Given the description of an element on the screen output the (x, y) to click on. 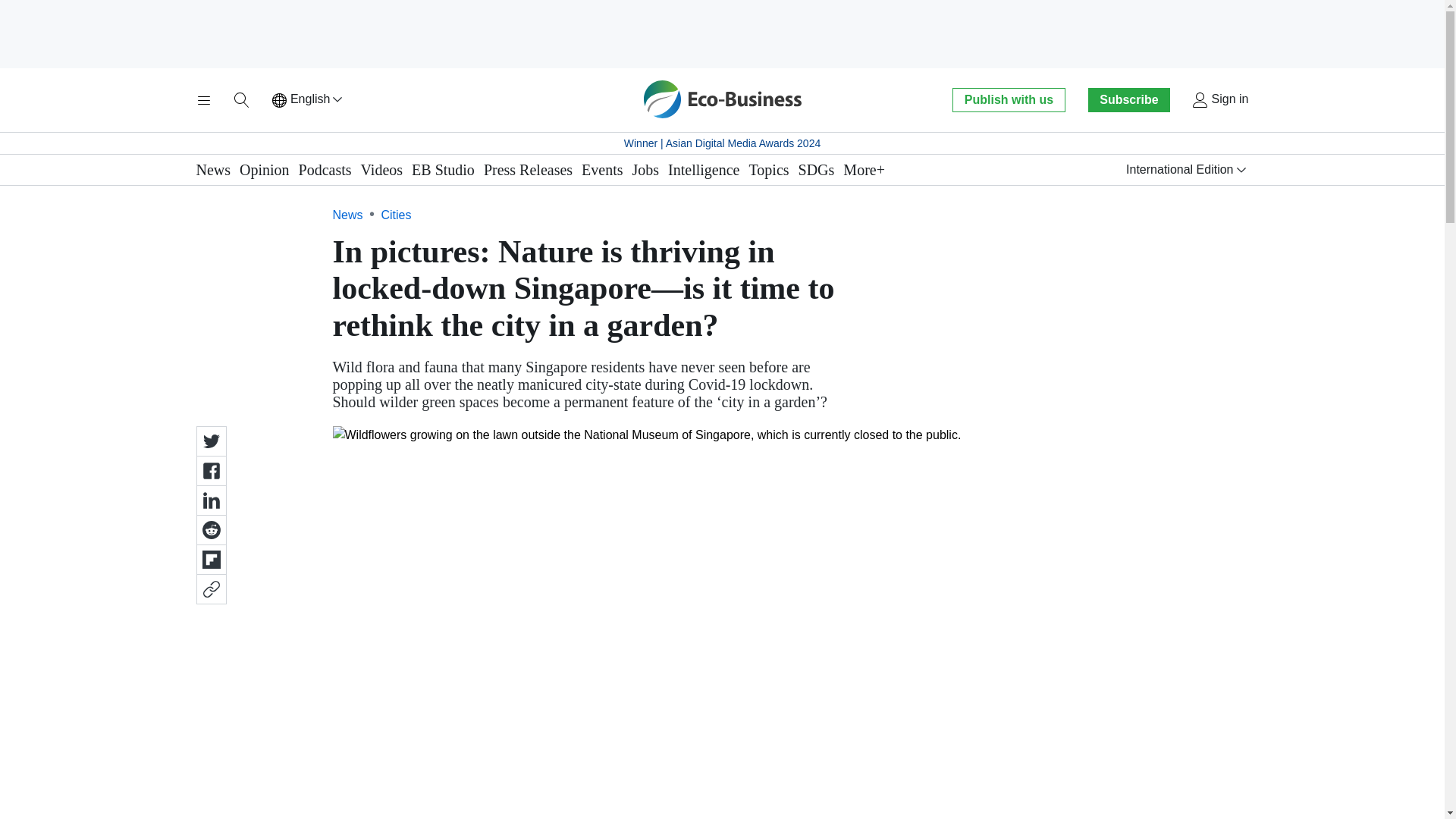
Topics (769, 169)
Share on Reddit (210, 530)
Search (240, 99)
Share on Twitter (210, 440)
Menu (203, 99)
SDGs (815, 169)
Events (601, 169)
Intelligence (703, 169)
Toggle menu (203, 99)
News (212, 169)
Subscribe (1128, 99)
Videos (382, 169)
Jobs (645, 169)
Go to the Eco-Business homepage (721, 99)
Toggle search (240, 99)
